Given the description of an element on the screen output the (x, y) to click on. 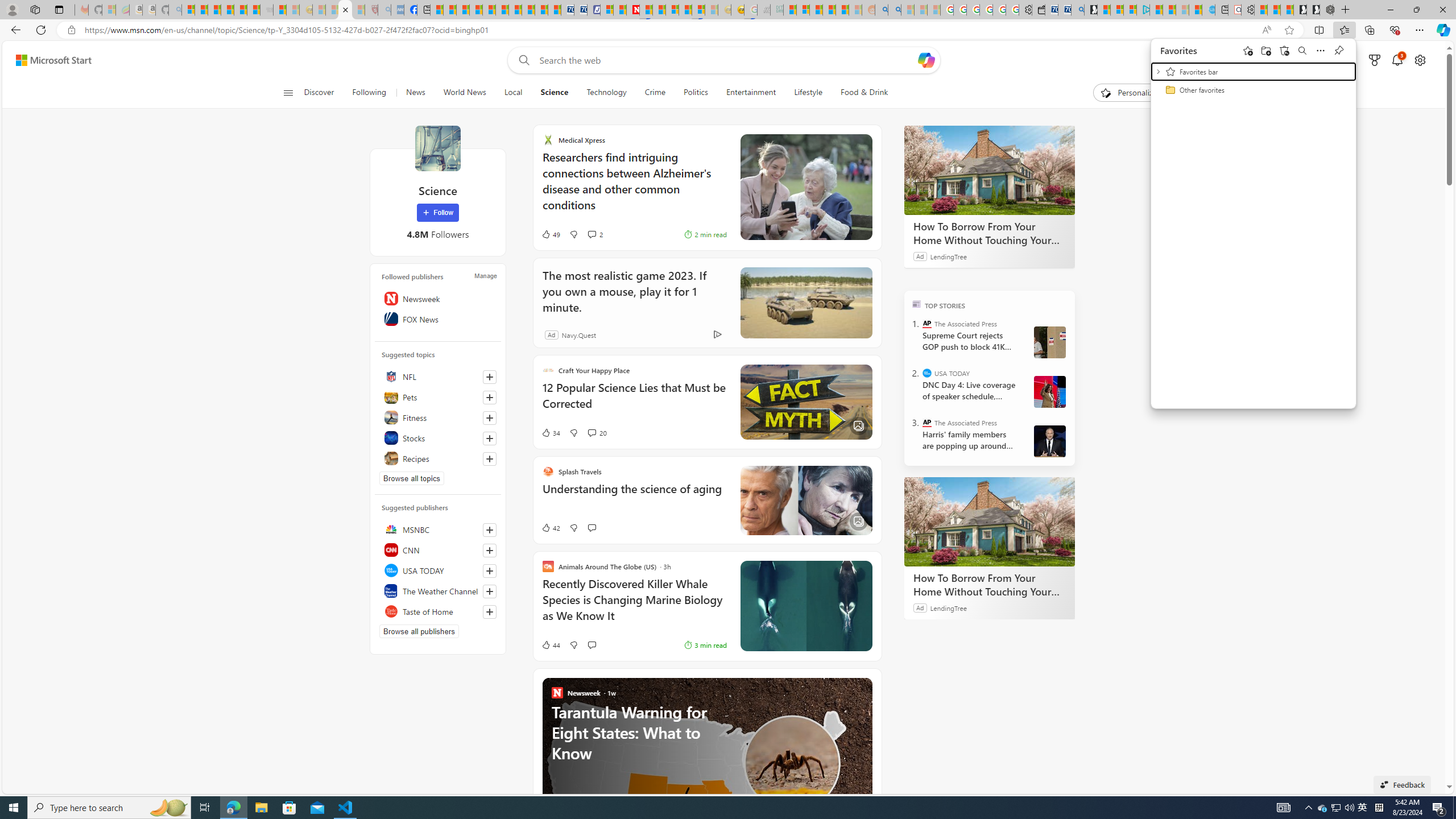
Bing Real Estate - Home sales and rental listings (1077, 9)
Task View (204, 807)
File Explorer (261, 807)
Microsoft Store (289, 807)
Cheap Hotels - Save70.com (580, 9)
